Given the description of an element on the screen output the (x, y) to click on. 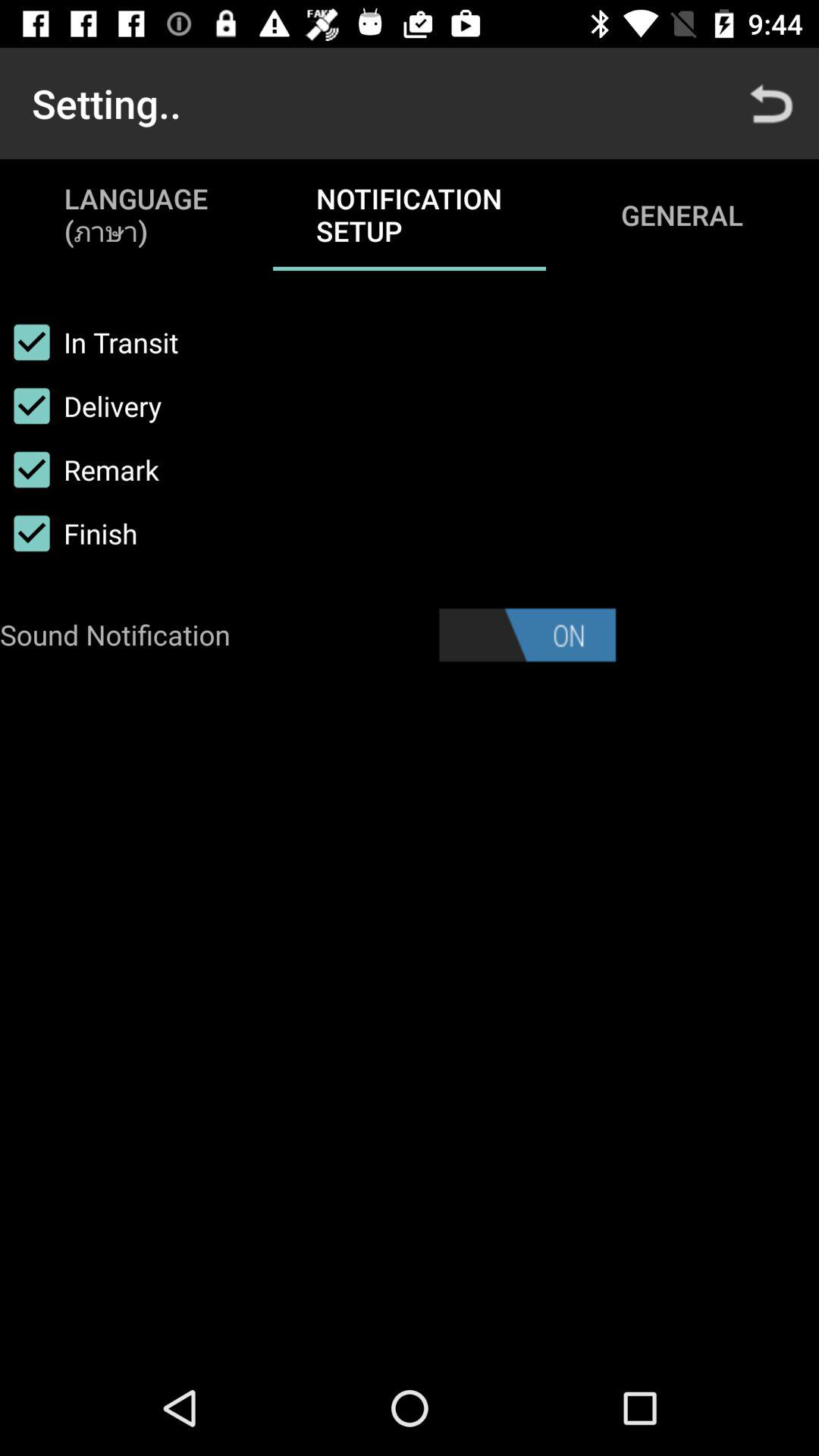
open the icon to the right of notification
setup app (771, 103)
